Given the description of an element on the screen output the (x, y) to click on. 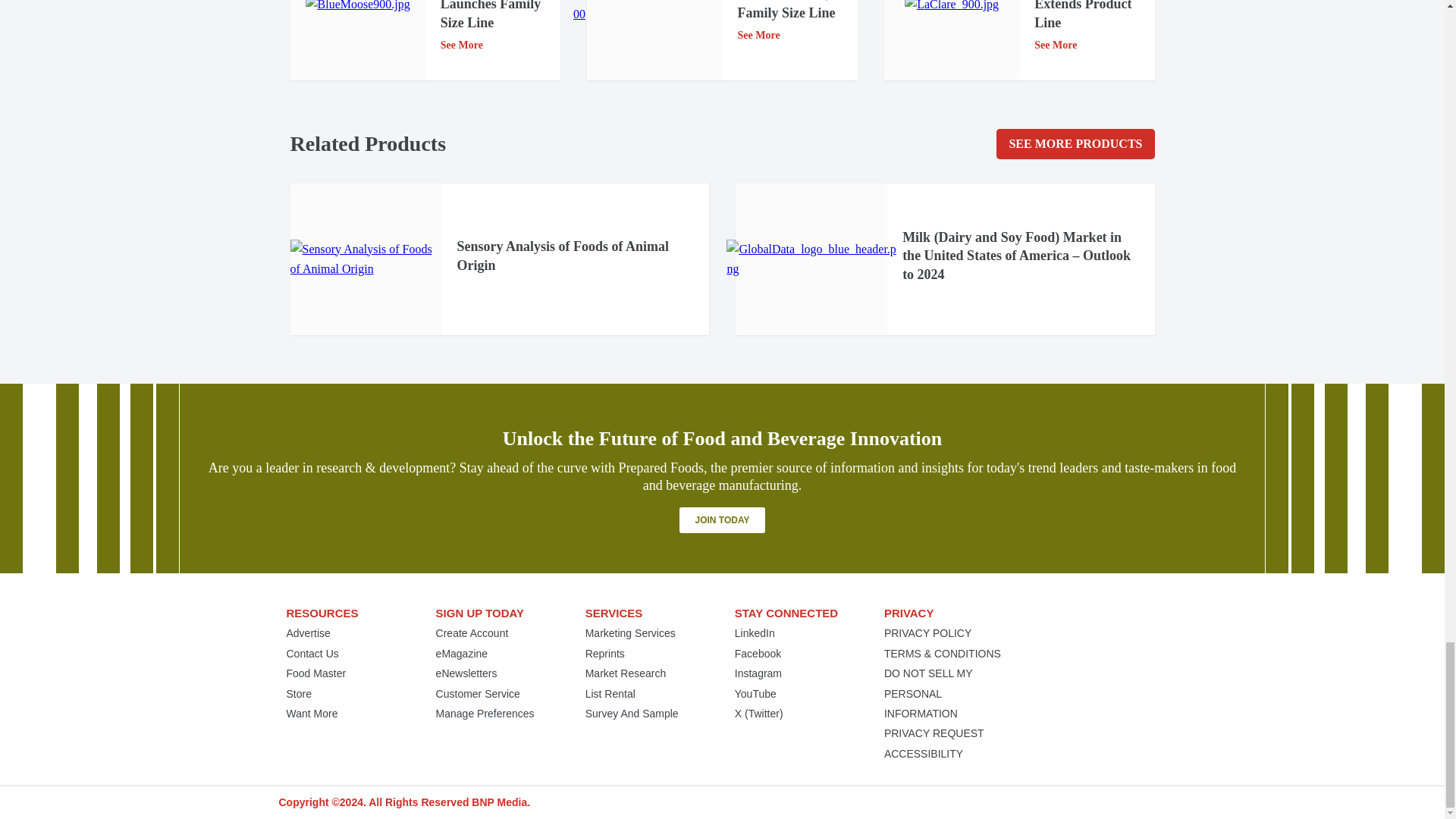
Sensory Analysis of Foods of Animal Origin (365, 259)
BlueMoose900.jpg (357, 7)
